Given the description of an element on the screen output the (x, y) to click on. 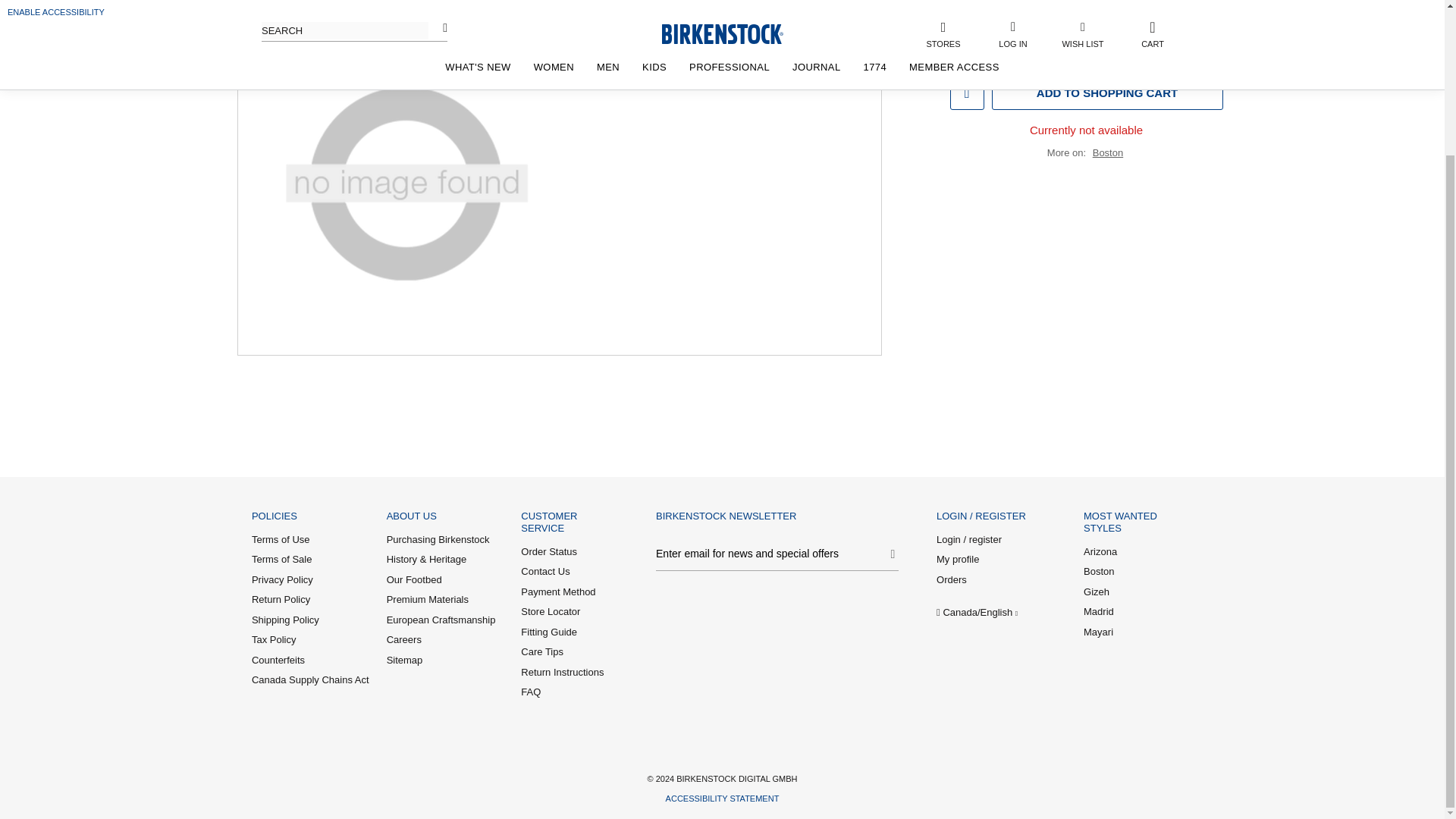
no image (406, 186)
Log in (1033, 101)
